Given the description of an element on the screen output the (x, y) to click on. 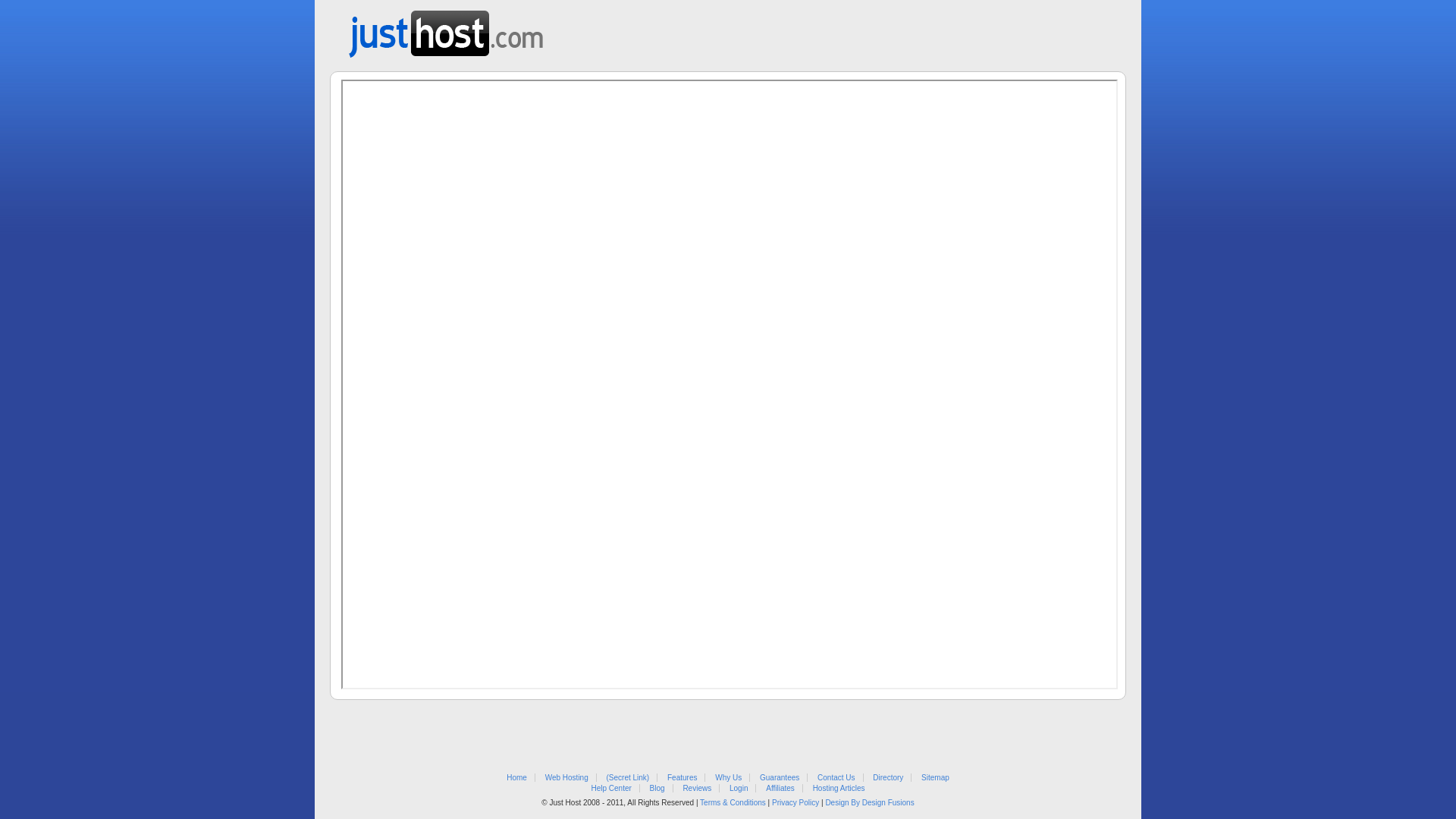
Reviews Element type: text (696, 788)
Login Element type: text (738, 788)
Contact Us Element type: text (835, 777)
Why Us Element type: text (728, 777)
Terms & Conditions Element type: text (732, 802)
Features Element type: text (681, 777)
Privacy Policy Element type: text (795, 802)
Web Hosting Element type: text (566, 777)
Hosting Articles Element type: text (838, 788)
Help Center Element type: text (610, 788)
Home Element type: text (516, 777)
Guarantees Element type: text (779, 777)
Affiliates Element type: text (779, 788)
Blog Element type: text (657, 788)
Sitemap Element type: text (935, 777)
Directory Element type: text (887, 777)
(Secret Link) Element type: text (627, 777)
Web Hosting from Just Host Element type: text (445, 28)
Design By Design Fusions Element type: text (869, 802)
